Given the description of an element on the screen output the (x, y) to click on. 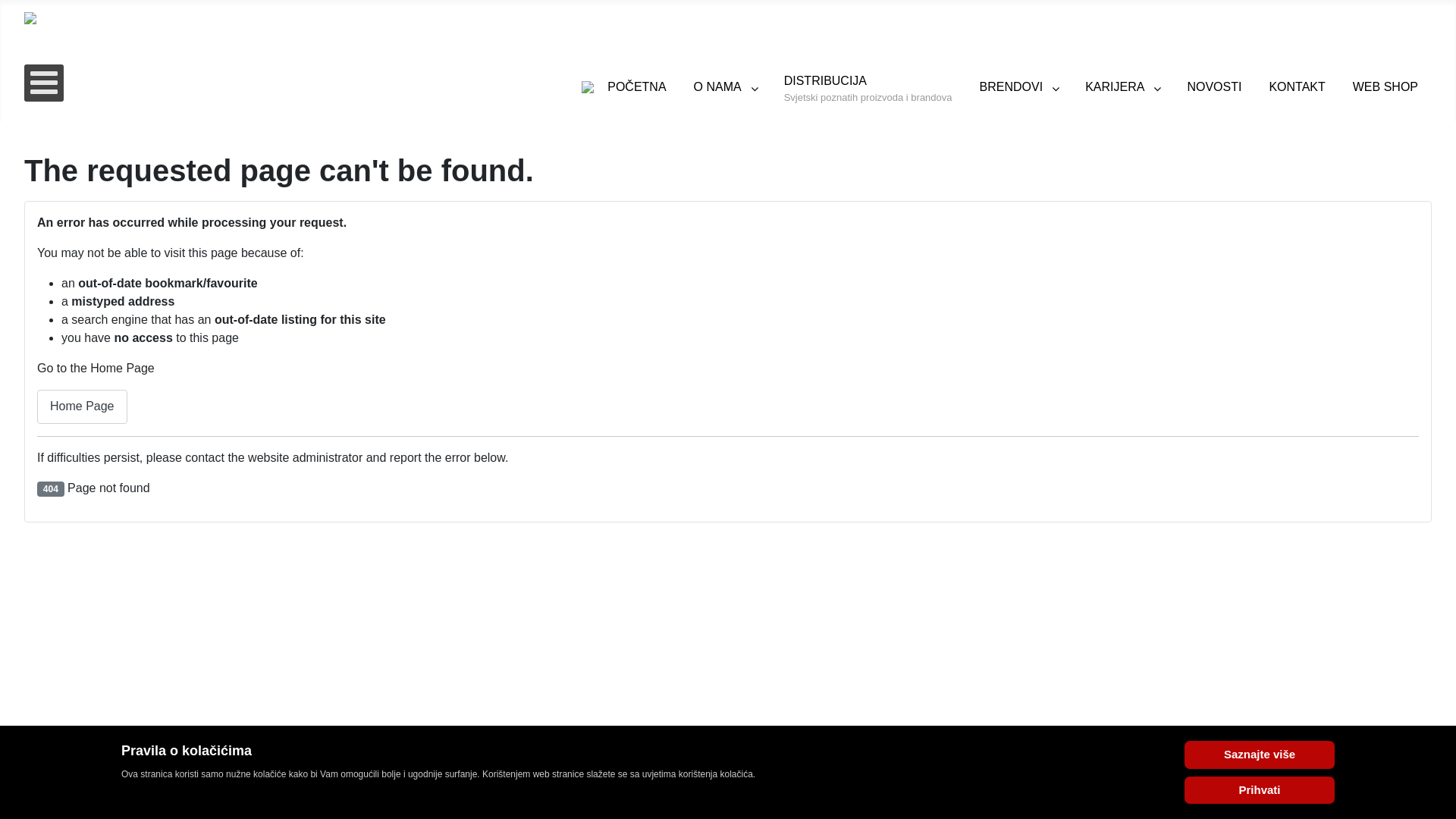
DISTRIBUCIJA
Svjetski poznatih proizvoda i brandova Element type: text (868, 86)
BRENDOVI Element type: text (1019, 86)
NOVOSTI Element type: text (1214, 86)
Home Page Element type: text (82, 406)
O NAMA Element type: text (725, 86)
KARIJERA Element type: text (1122, 86)
Prihvati Element type: text (1259, 790)
WEB SHOP Element type: text (1385, 86)
KONTAKT Element type: text (1296, 86)
